Given the description of an element on the screen output the (x, y) to click on. 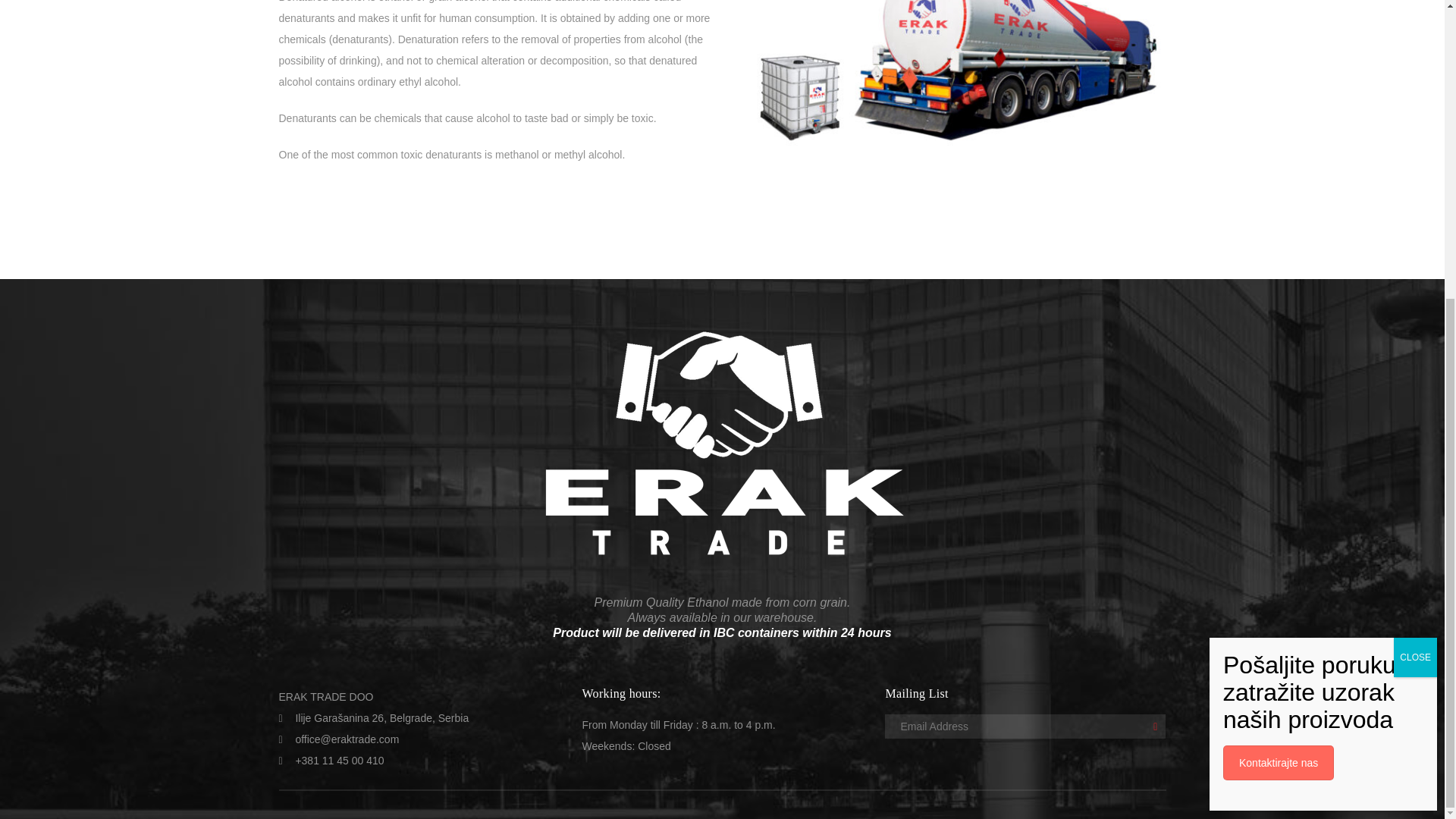
Kontaktirajte nas (1278, 298)
CLOSE (1415, 193)
